Given the description of an element on the screen output the (x, y) to click on. 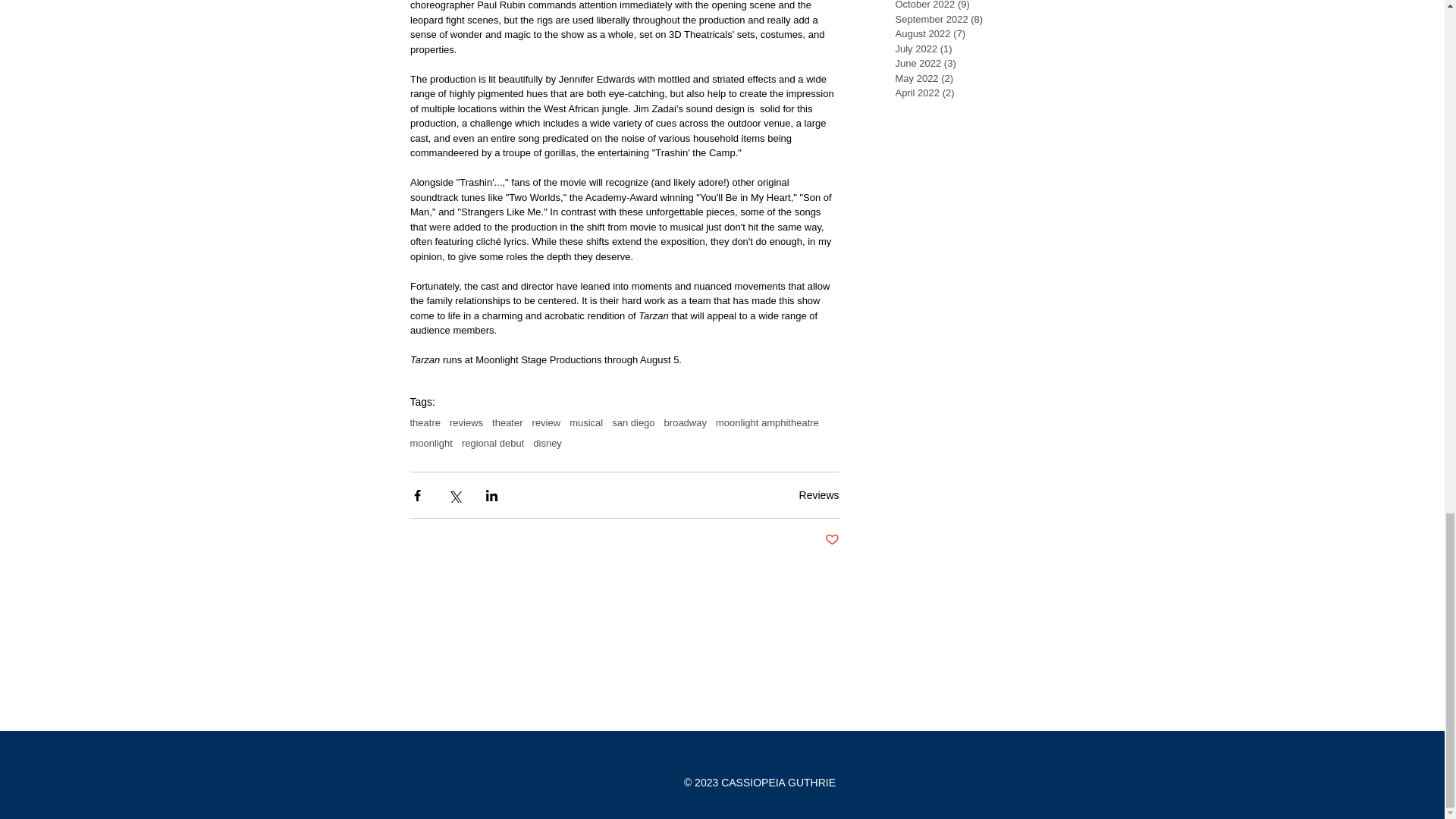
musical (585, 422)
broadway (684, 422)
theater (507, 422)
Post not marked as liked (832, 539)
review (546, 422)
reviews (466, 422)
regional debut (492, 442)
theatre (424, 422)
disney (547, 442)
moonlight amphitheatre (767, 422)
